Given the description of an element on the screen output the (x, y) to click on. 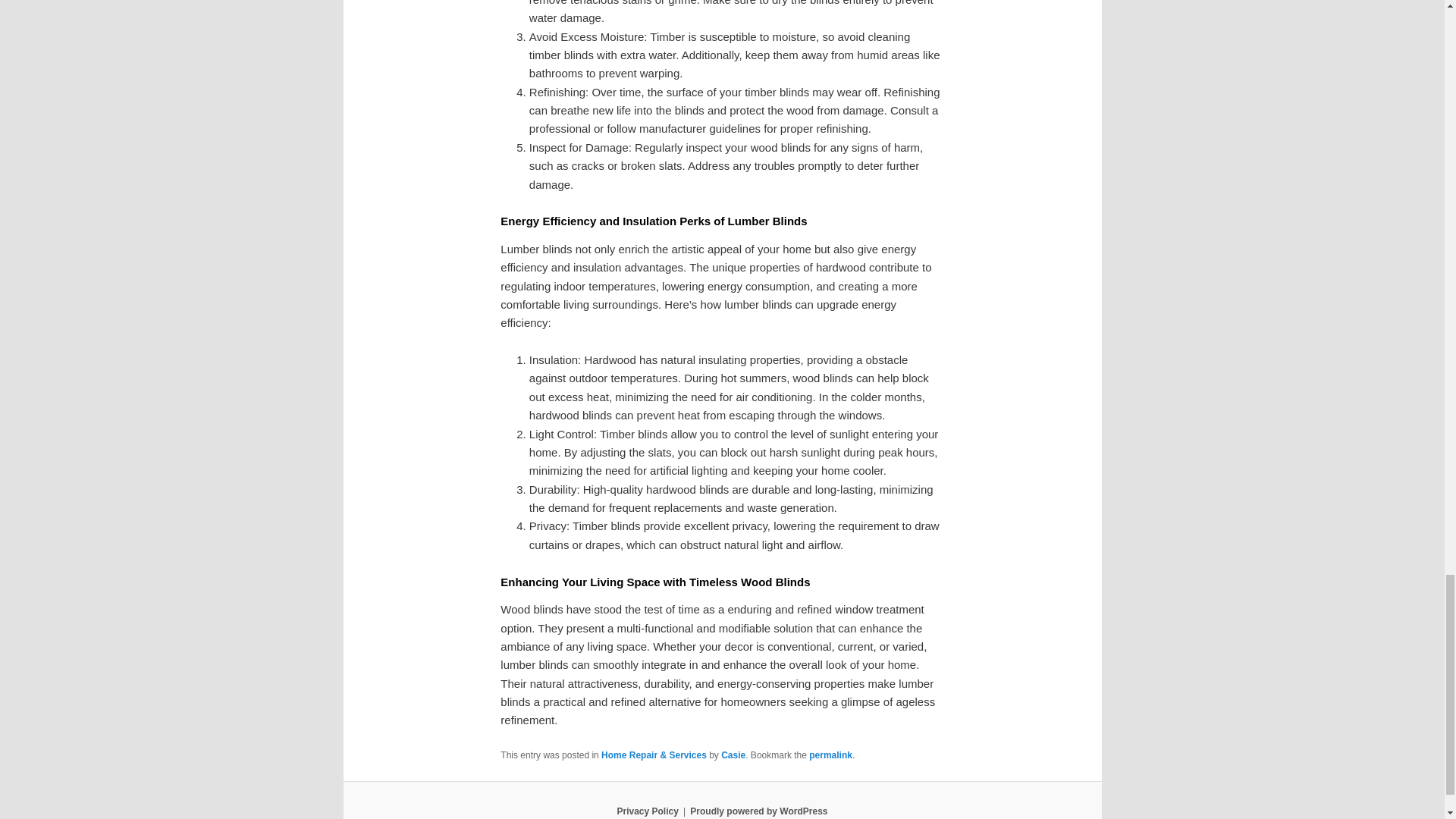
permalink (830, 755)
Permalink to Woven Wood Blinds: Nature-Inspired Design (830, 755)
Semantic Personal Publishing Platform (758, 810)
Proudly powered by WordPress (758, 810)
Privacy Policy (646, 810)
Casie (732, 755)
